Given the description of an element on the screen output the (x, y) to click on. 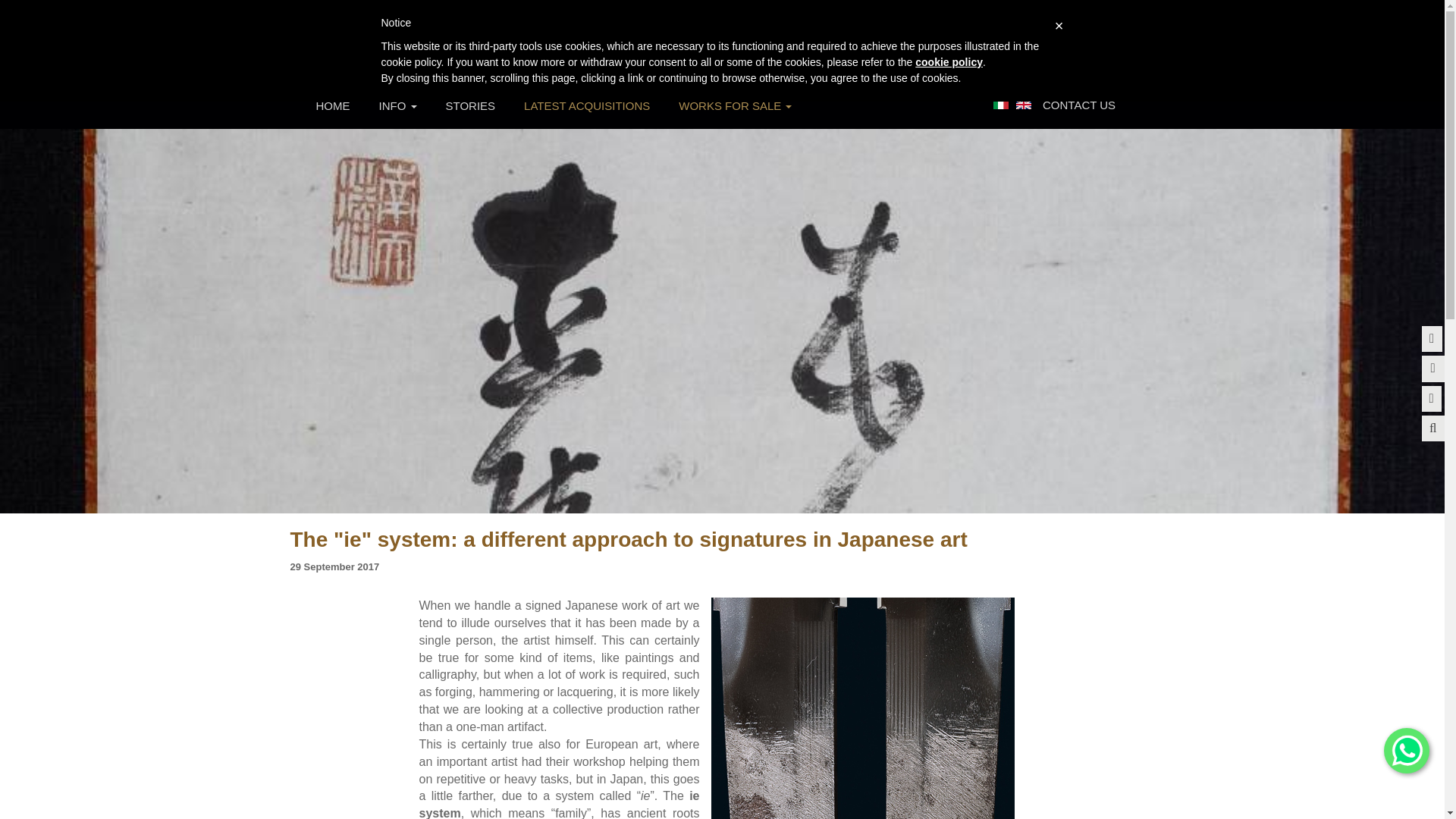
Italiano (1000, 103)
HOME (333, 105)
English (1023, 103)
STORIES (469, 105)
INFO (397, 105)
LATEST ACQUISITIONS (586, 105)
